Given the description of an element on the screen output the (x, y) to click on. 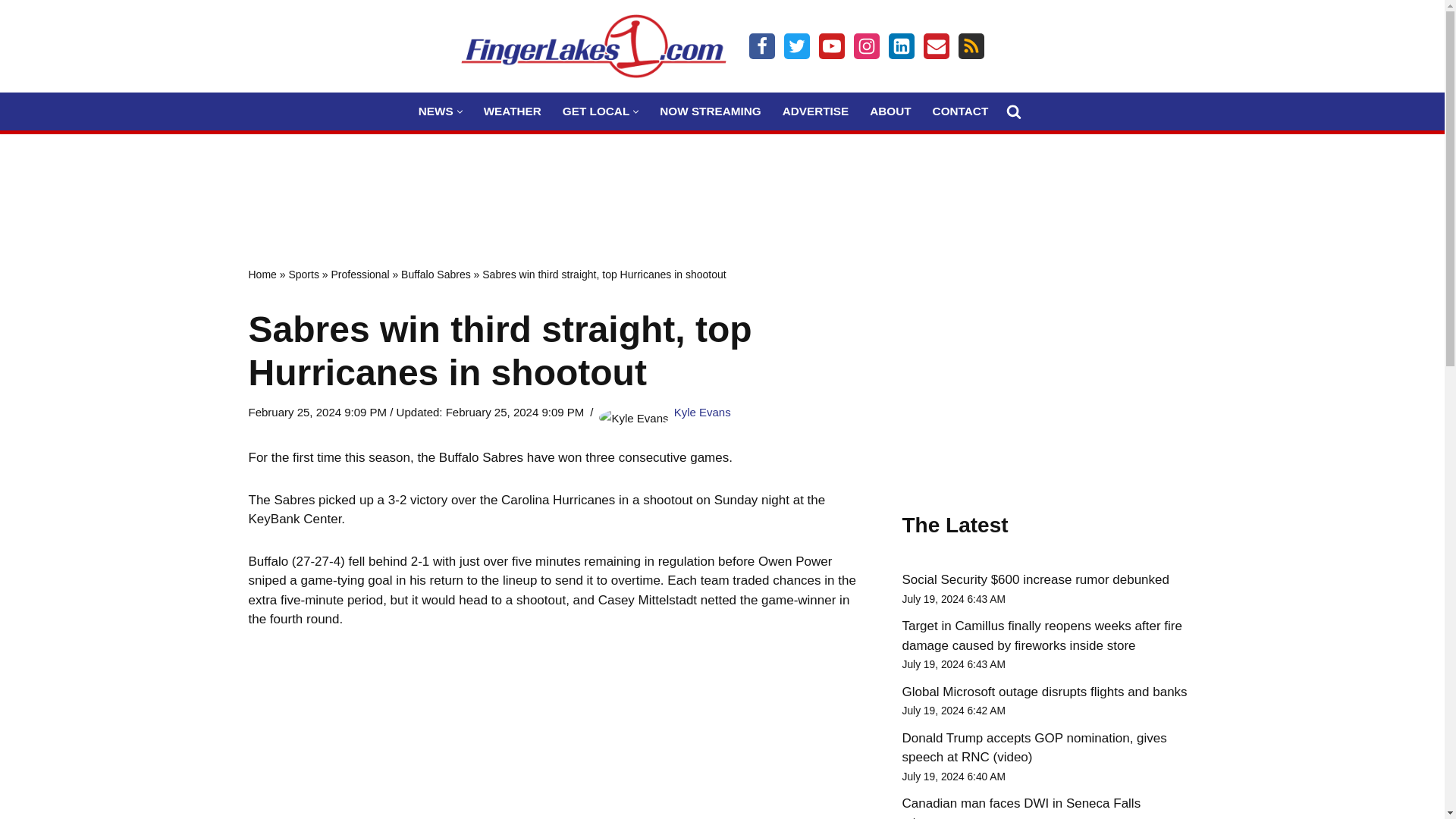
Email Us (936, 45)
WEATHER (512, 111)
Youtube (831, 45)
Feed (971, 45)
NEWS (435, 111)
ADVERTISE (815, 111)
CONTACT (960, 111)
LinkIn (901, 45)
NOW STREAMING (709, 111)
GET LOCAL (595, 111)
ABOUT (890, 111)
Instagram (866, 45)
Twitter (796, 45)
Advertisement (721, 183)
Facebook (761, 45)
